Given the description of an element on the screen output the (x, y) to click on. 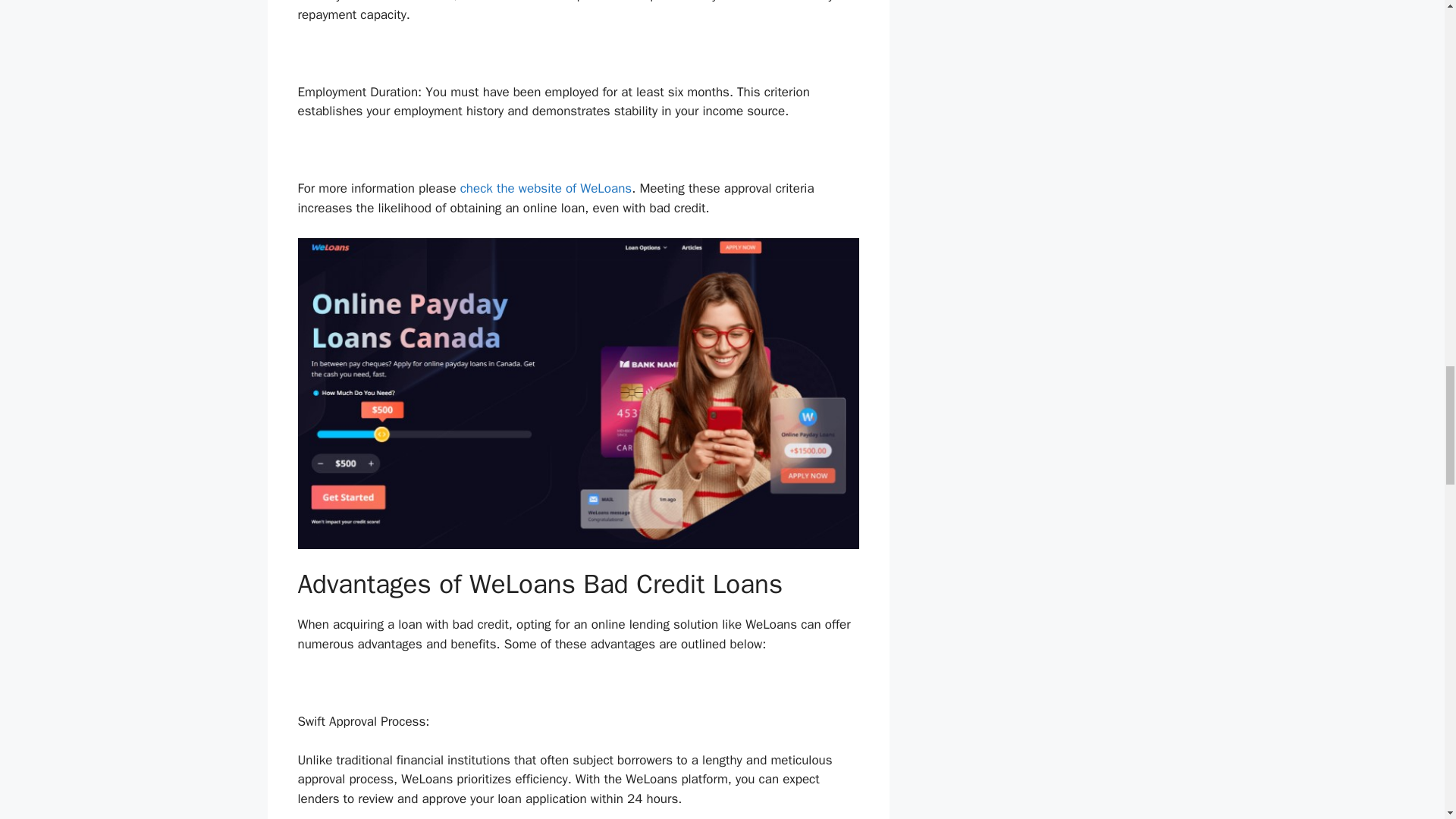
check the website of WeLoans (545, 188)
